Given the description of an element on the screen output the (x, y) to click on. 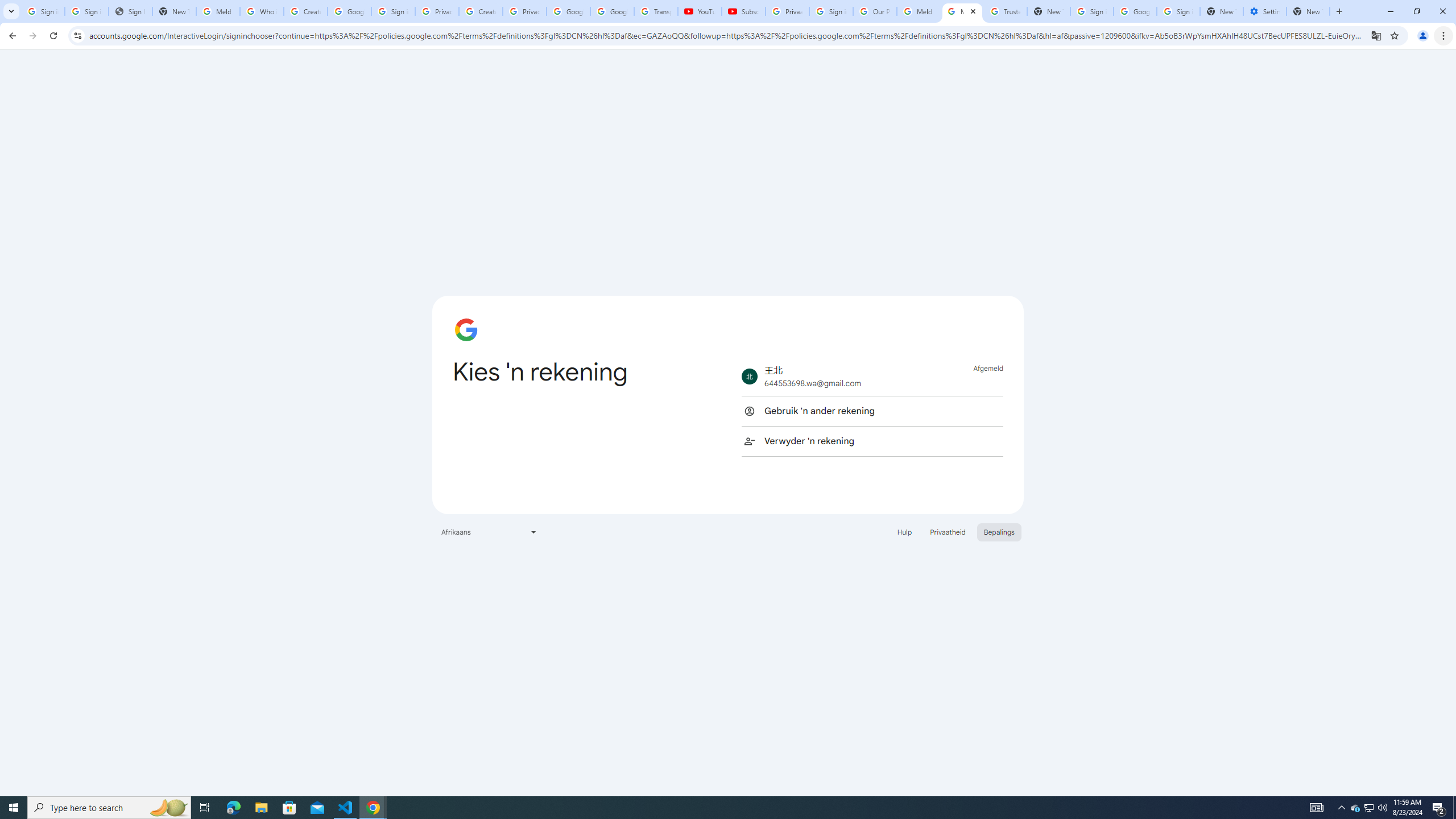
Verwyder 'n rekening (871, 440)
Trusted Information and Content - Google Safety Center (1005, 11)
Subscriptions - YouTube (743, 11)
Sign in - Google Accounts (830, 11)
Create your Google Account (305, 11)
YouTube (699, 11)
Sign in - Google Accounts (86, 11)
